Given the description of an element on the screen output the (x, y) to click on. 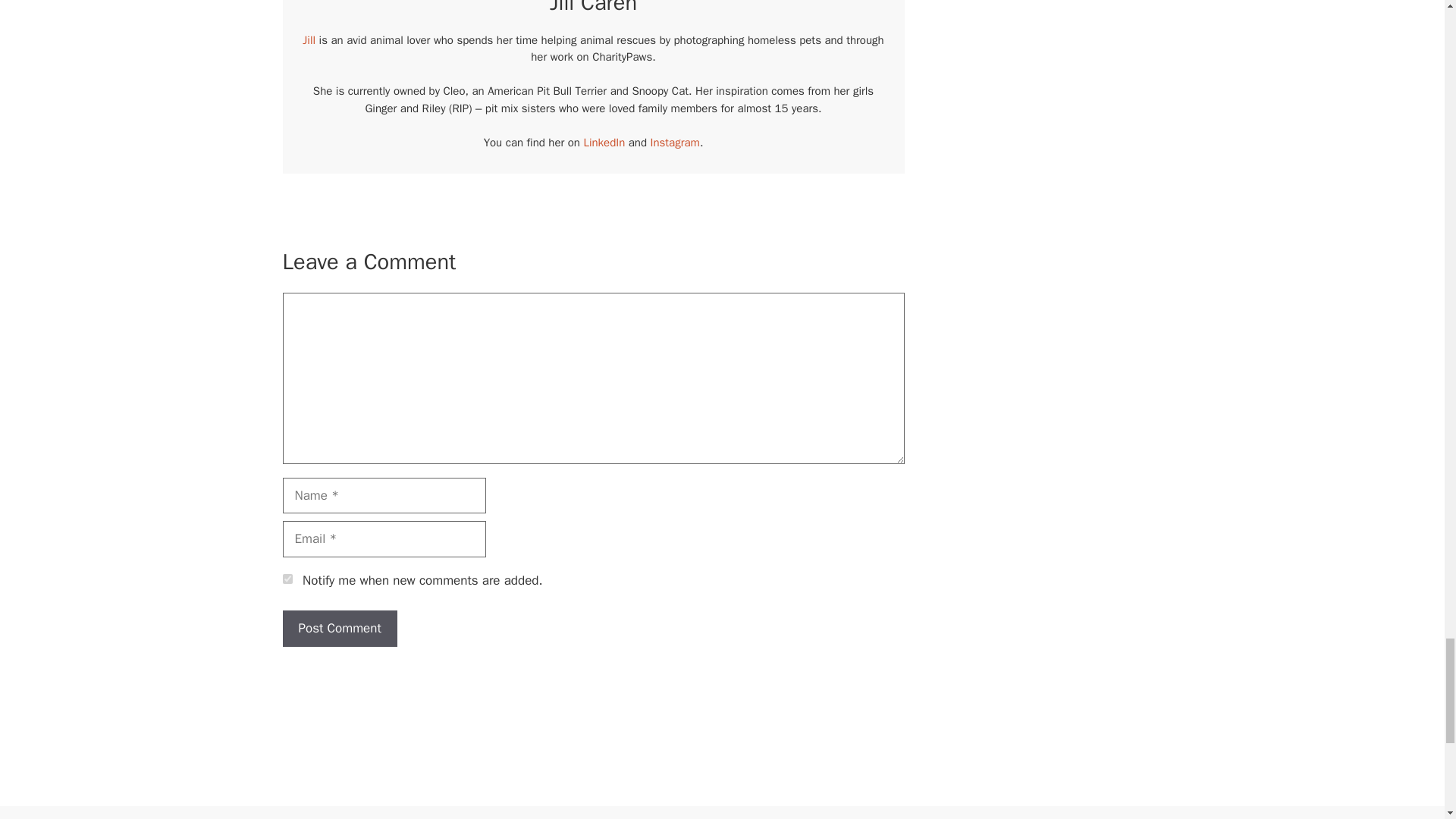
Post Comment (339, 628)
Jill (308, 39)
Instagram (675, 142)
LinkedIn (603, 142)
1 (287, 578)
Post Comment (339, 628)
